Given the description of an element on the screen output the (x, y) to click on. 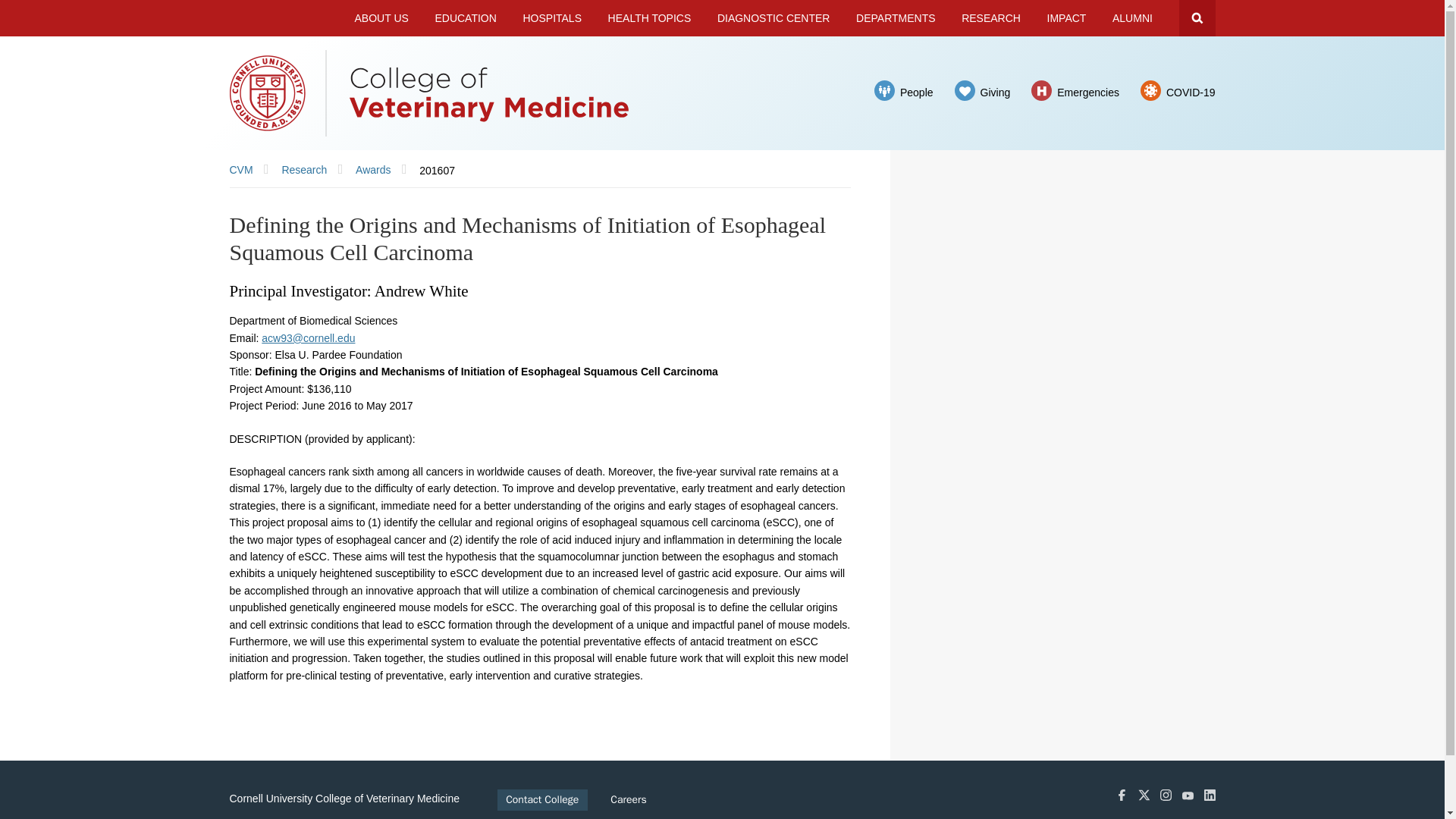
ALUMNI (1132, 18)
Search Cornell (1195, 18)
RESEARCH (990, 18)
DEPARTMENTS (895, 18)
DIAGNOSTIC CENTER (773, 18)
ABOUT US (382, 18)
EDUCATION (465, 18)
IMPACT (1066, 18)
HEALTH TOPICS (649, 18)
HOSPITALS (552, 18)
